Given the description of an element on the screen output the (x, y) to click on. 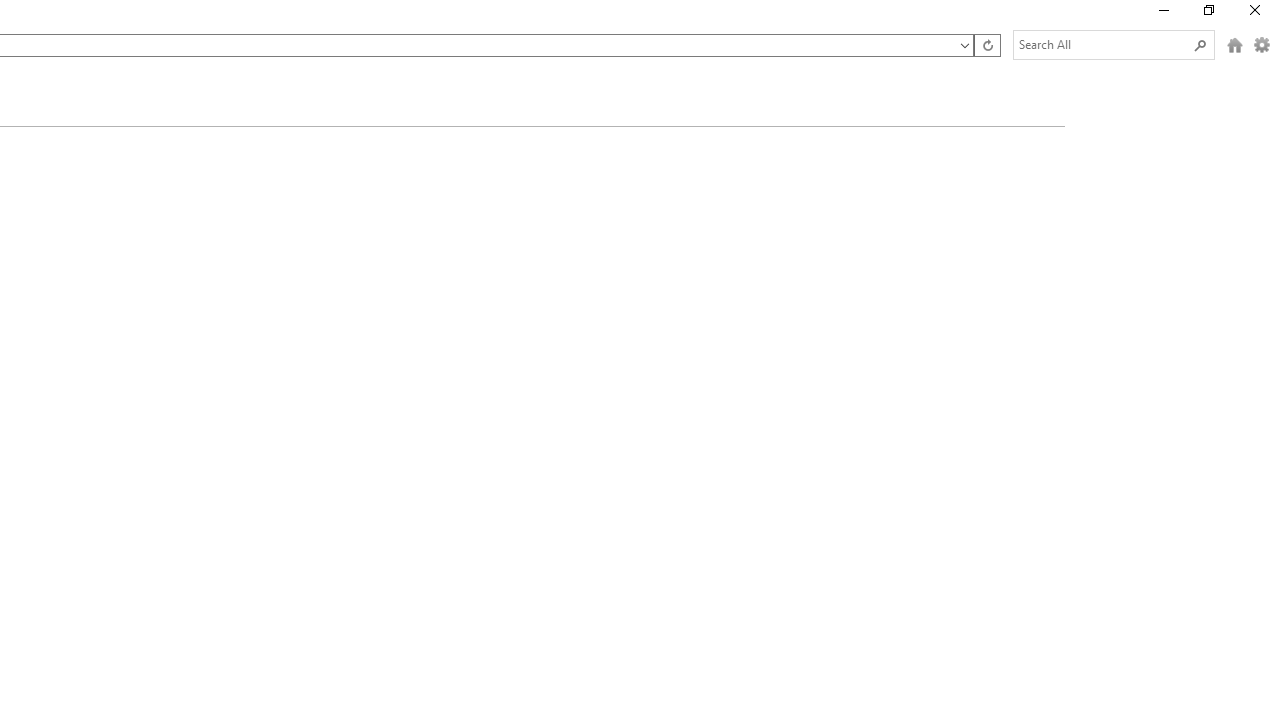
Restore (1208, 14)
Refresh button (987, 44)
Home (Alt + H) (1235, 44)
Search Box (1103, 43)
Options (Alt + O) (1261, 44)
Open (964, 45)
Refresh "Home" (F5) (986, 44)
AddressBarButtonToolbar (986, 44)
HomeButtonToolbar (1235, 44)
Search (1200, 44)
Minimize (1162, 14)
SettingsButtonToolbar (1261, 44)
